Given the description of an element on the screen output the (x, y) to click on. 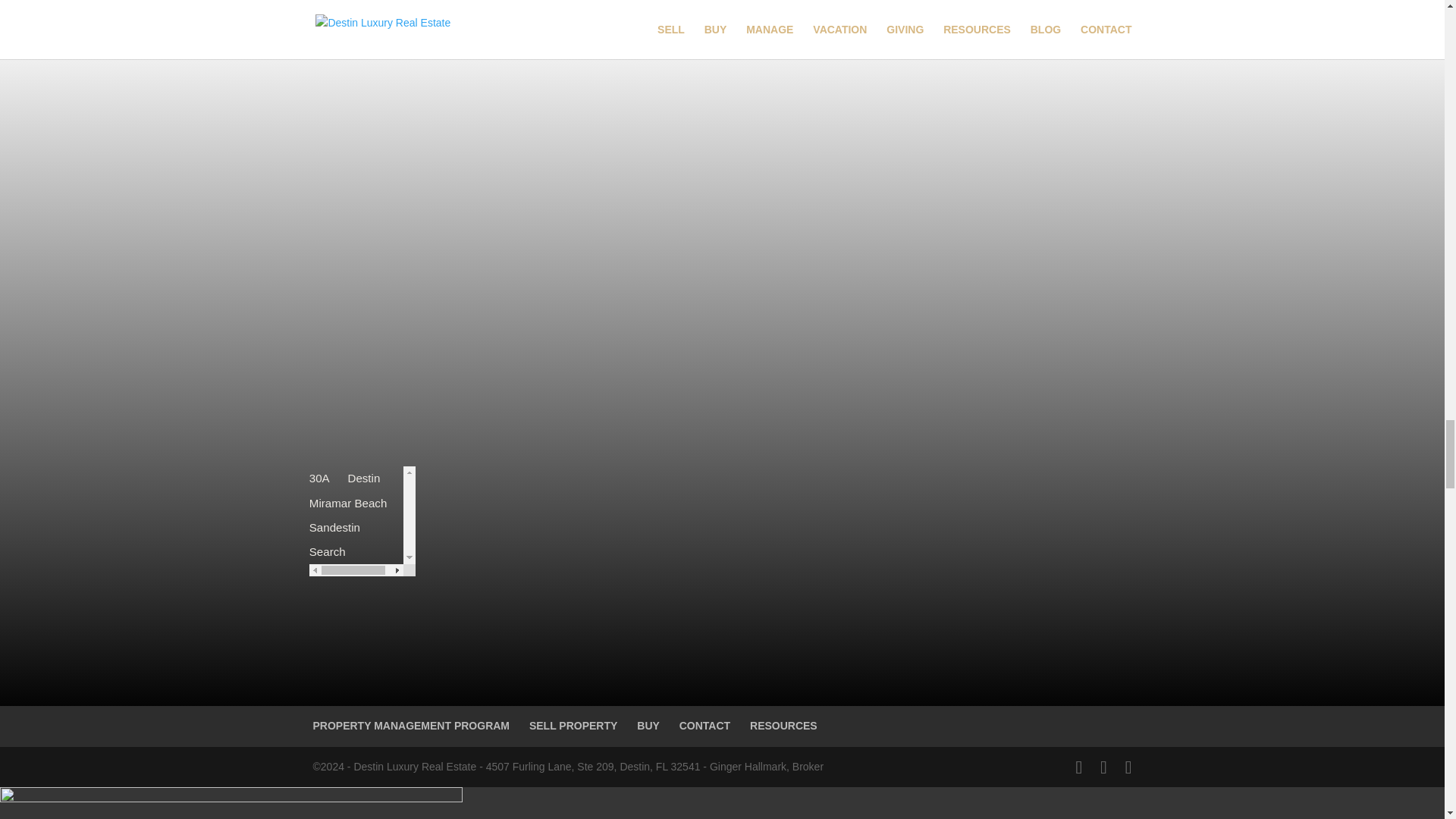
Destin (362, 480)
Miramar Beach (344, 504)
Search (325, 554)
PROPERTY MANAGEMENT PROGRAM (411, 725)
Sandestin (331, 529)
30A (317, 480)
